Given the description of an element on the screen output the (x, y) to click on. 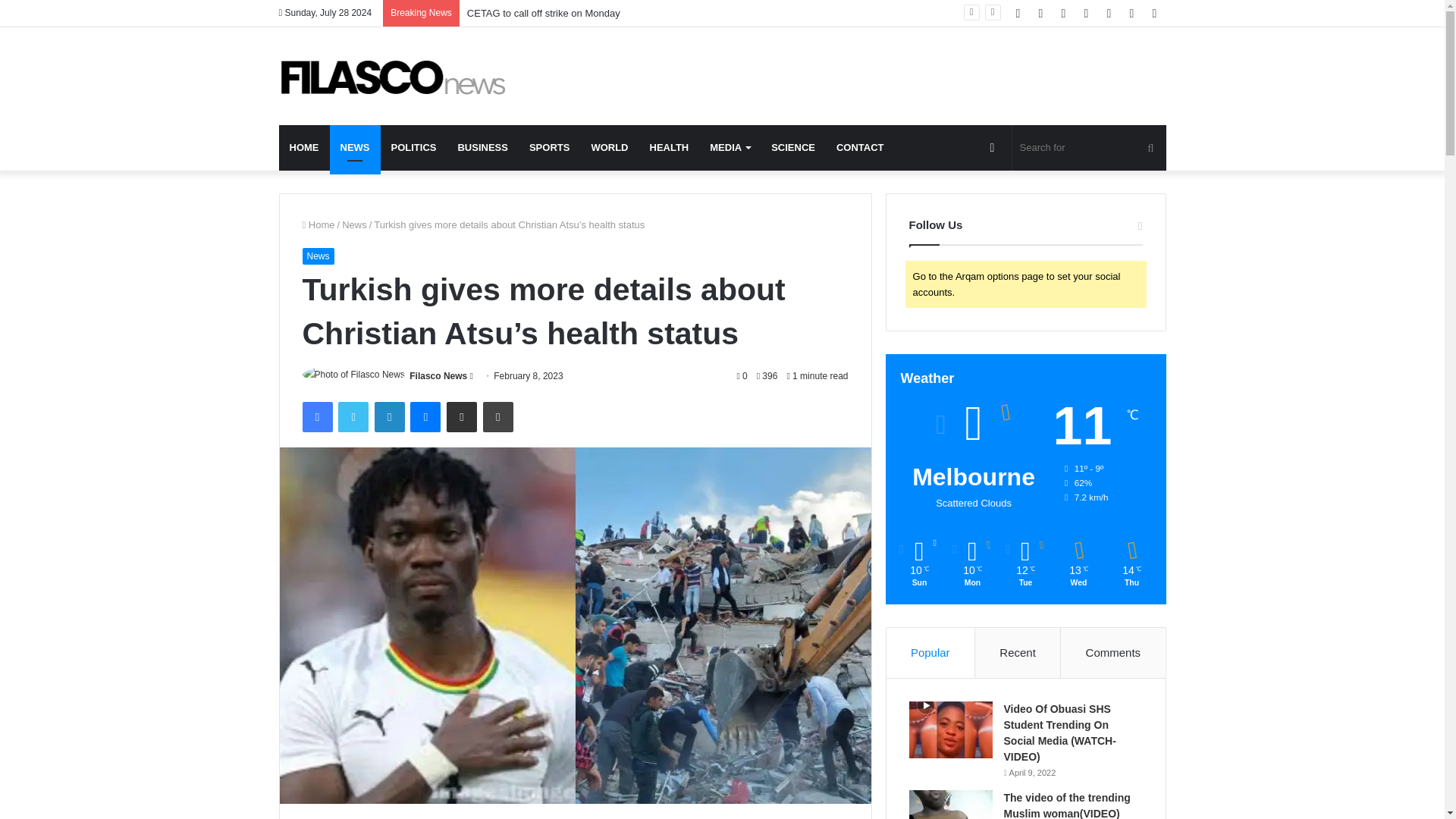
Filasco News (392, 76)
SCIENCE (792, 147)
CETAG to call off strike on Monday (543, 12)
HOME (304, 147)
Facebook (316, 417)
CONTACT (860, 147)
POLITICS (413, 147)
Share via Email (461, 417)
LinkedIn (389, 417)
Messenger (425, 417)
News (354, 224)
SPORTS (548, 147)
BUSINESS (482, 147)
Messenger (425, 417)
Home (317, 224)
